Given the description of an element on the screen output the (x, y) to click on. 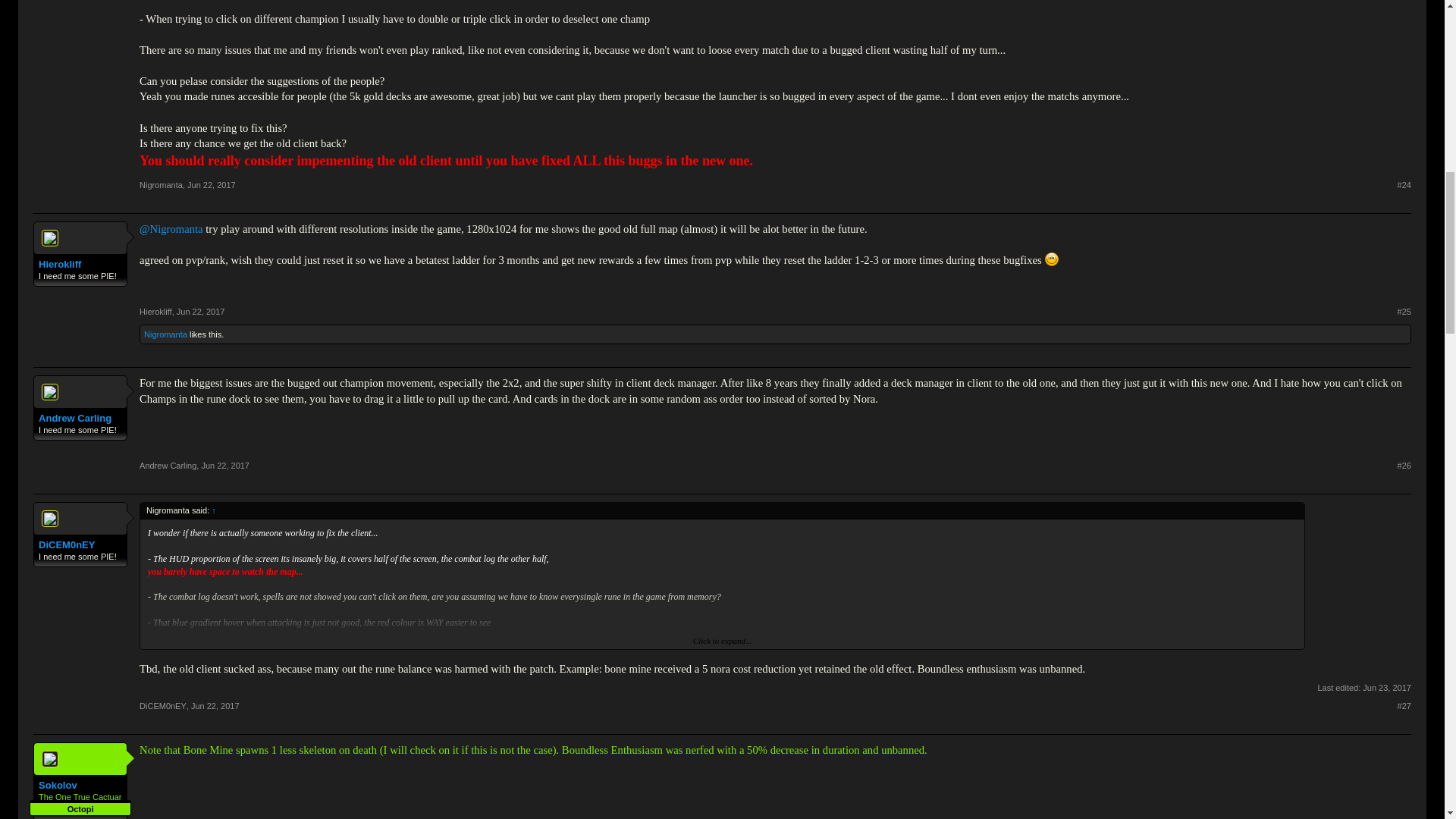
Hierokliff (155, 311)
DiCEM0nEY (162, 705)
Sokolov (80, 785)
Permalink (215, 705)
Jun 22, 2017 (200, 311)
Jun 22, 2017 (215, 705)
Andrew Carling (167, 465)
Jun 23, 2017 at 4:14 AM (1386, 687)
Permalink (1403, 706)
Permalink (224, 465)
Jun 22, 2017 (224, 465)
Hierokliff (80, 264)
Nigromanta (161, 184)
Nigromanta (165, 334)
Jun 22, 2017 (211, 184)
